Given the description of an element on the screen output the (x, y) to click on. 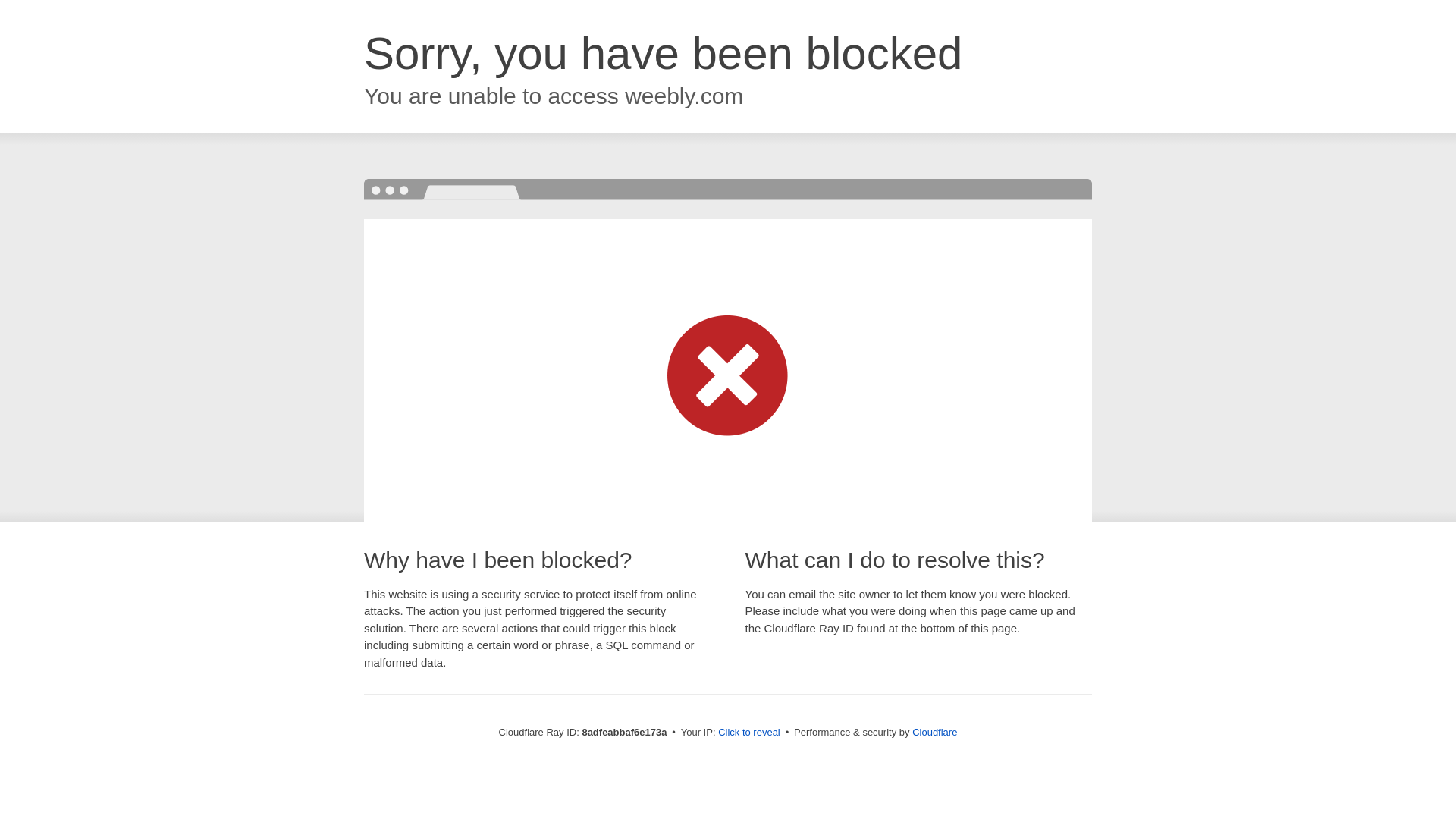
Cloudflare (934, 731)
Click to reveal (748, 732)
